Given the description of an element on the screen output the (x, y) to click on. 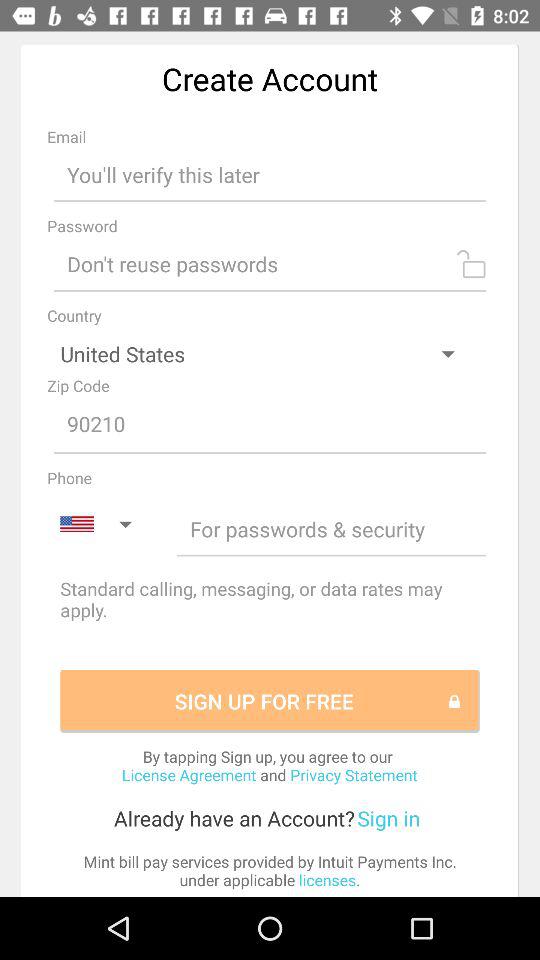
press the item below password (269, 263)
